Given the description of an element on the screen output the (x, y) to click on. 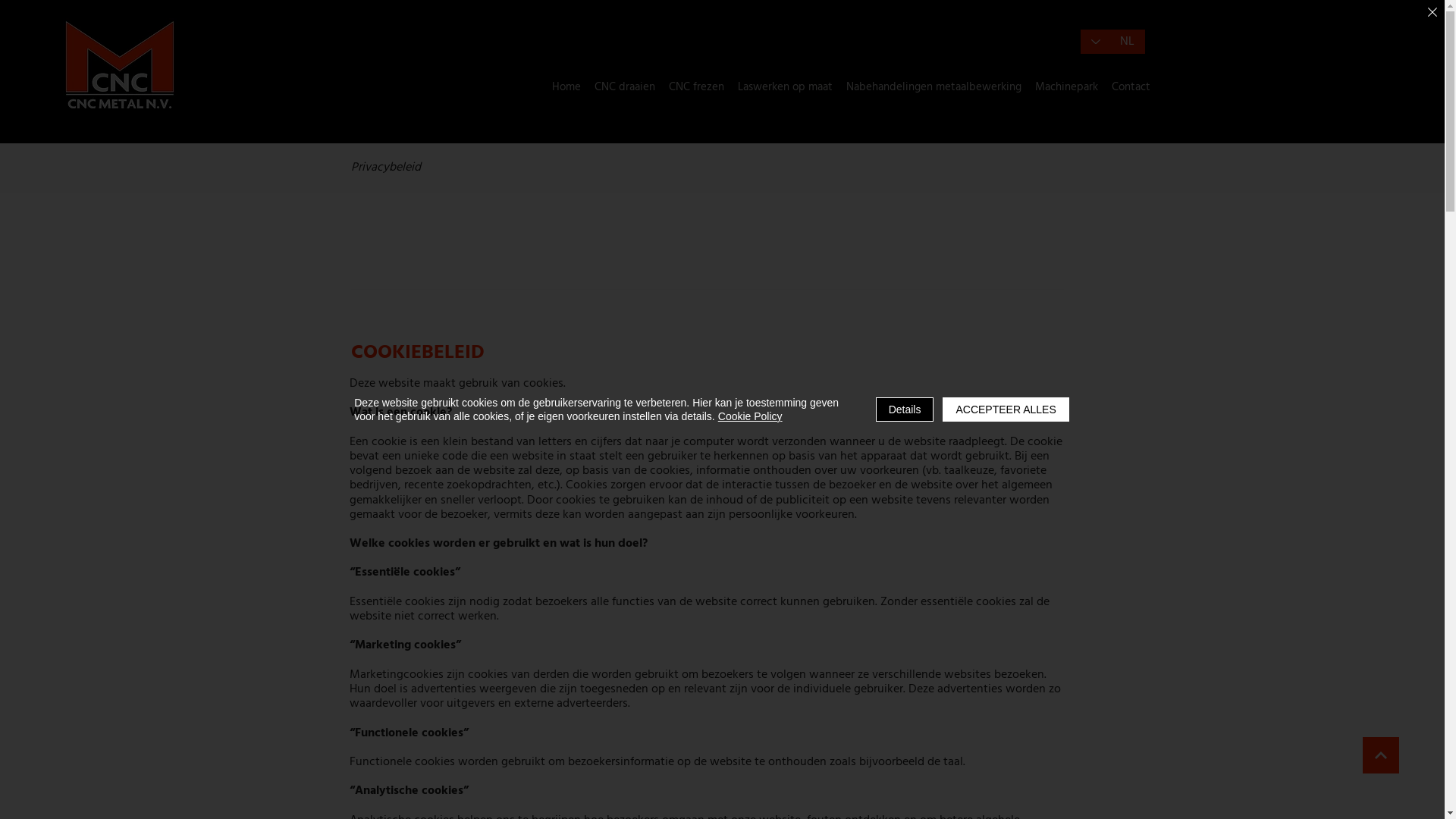
Machinepark Element type: text (1066, 87)
Cookie Policy Element type: text (750, 416)
Nabehandelingen metaalbewerking Element type: text (933, 87)
Laswerken op maat Element type: text (785, 87)
CNC frezen Element type: text (696, 87)
CNC draaien Element type: text (624, 87)
ACCEPTEER ALLES Element type: text (1005, 409)
Details Element type: text (904, 409)
Contact Element type: text (1130, 87)
Home Element type: text (566, 87)
